Given the description of an element on the screen output the (x, y) to click on. 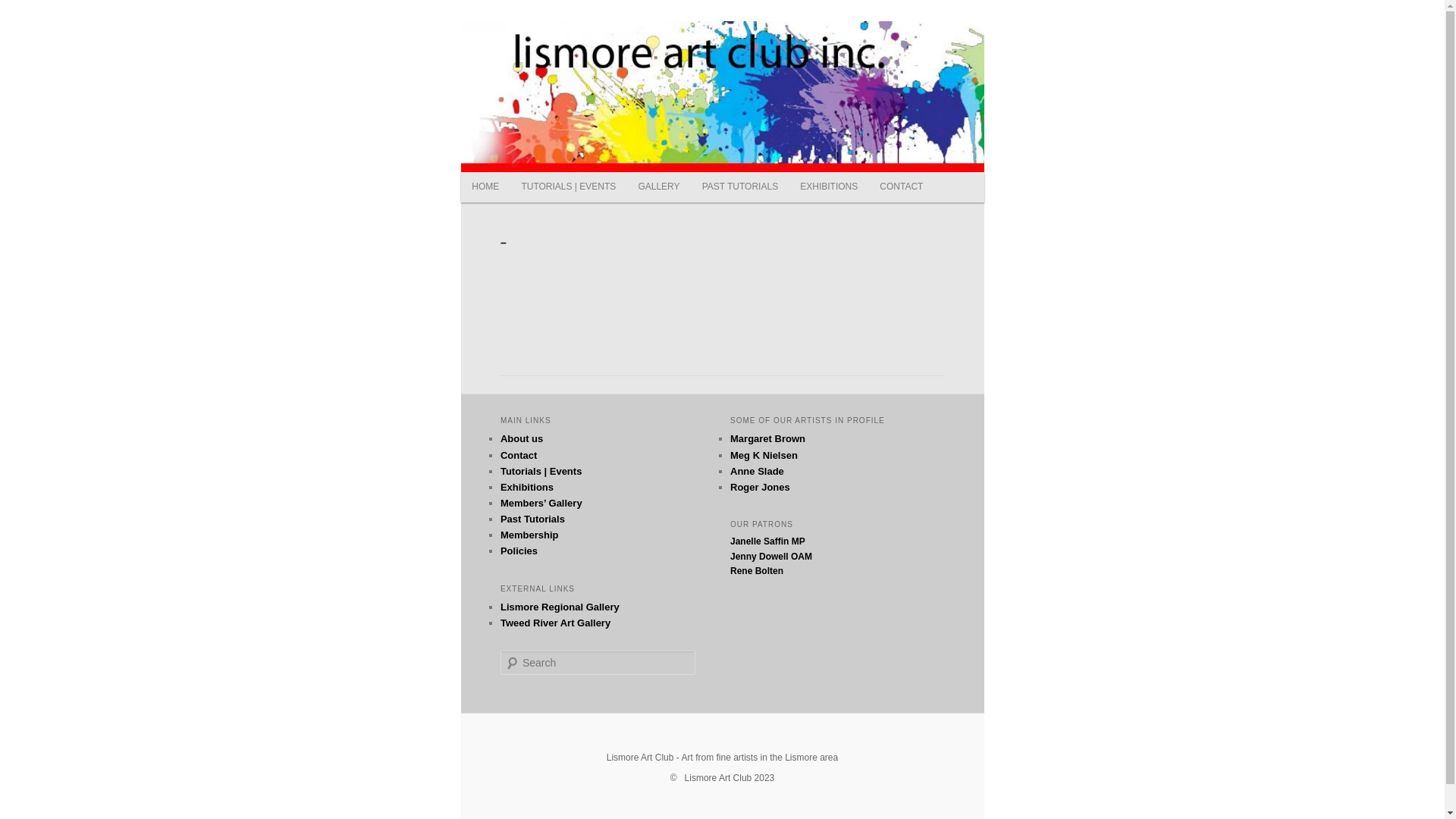
Anne Slade Element type: text (757, 470)
GALLERY Element type: text (658, 187)
Meg K Nielsen Element type: text (763, 455)
Roger Jones Element type: text (760, 486)
Margaret Brown Element type: text (767, 438)
HOME Element type: text (485, 187)
CONTACT Element type: text (901, 187)
Exhibitions Element type: text (526, 486)
Past Tutorials Element type: text (532, 518)
TUTORIALS | EVENTS Element type: text (568, 187)
Lismore Regional Gallery Element type: text (559, 606)
About us Element type: text (521, 438)
Tutorials | Events Element type: text (540, 470)
PAST TUTORIALS Element type: text (739, 187)
SKIP TO PRIMARY CONTENT Element type: text (481, 172)
Contact Element type: text (518, 455)
Policies Element type: text (518, 550)
EXHIBITIONS Element type: text (829, 187)
Search Element type: text (20, 10)
Tweed River Art Gallery Element type: text (555, 622)
Membership Element type: text (529, 534)
